Given the description of an element on the screen output the (x, y) to click on. 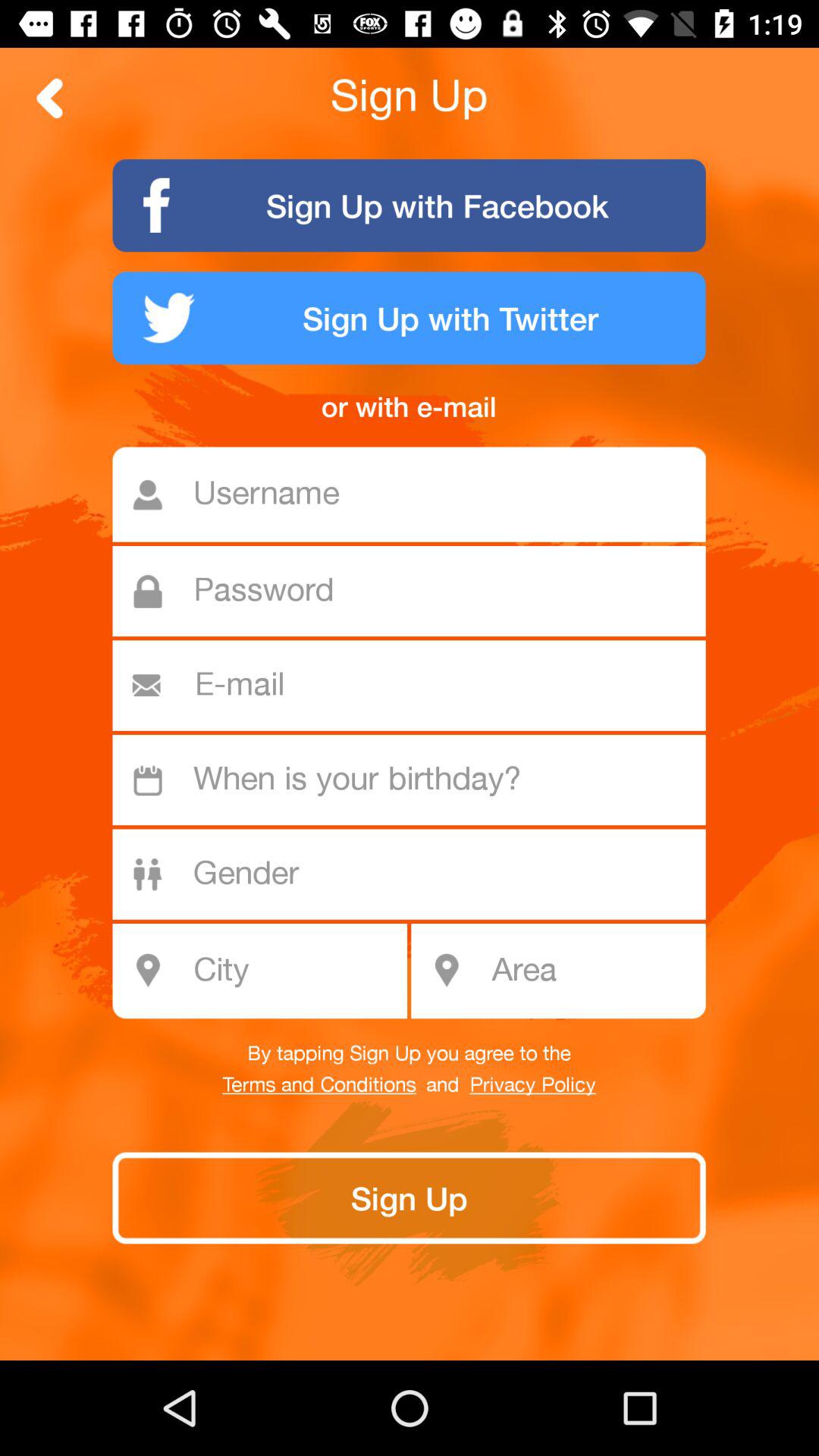
choose item to the left of and item (319, 1085)
